Given the description of an element on the screen output the (x, y) to click on. 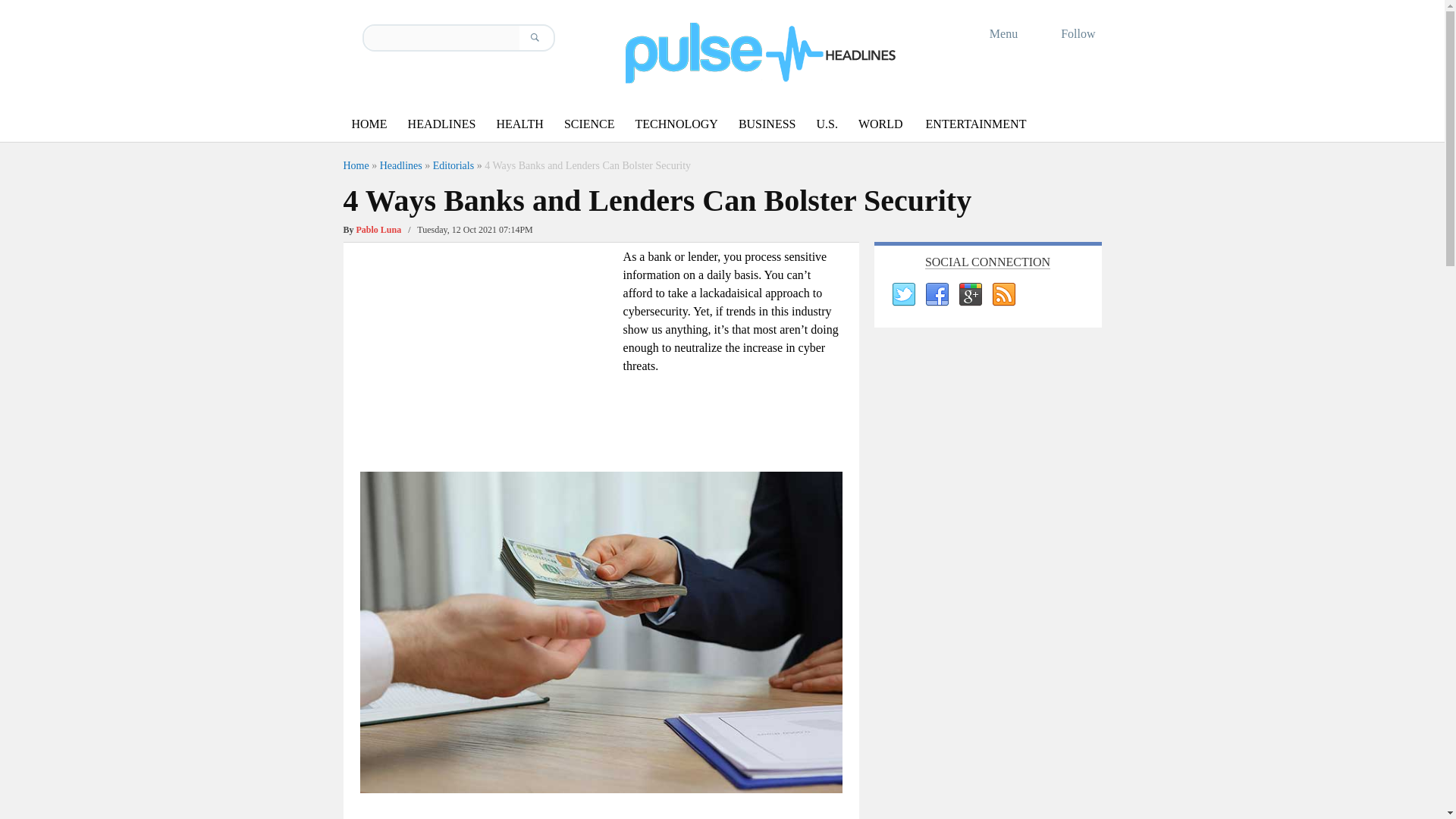
Home (355, 165)
HOME (368, 123)
Follow (1068, 33)
RSS (1002, 294)
WORLD (880, 123)
BUSINESS (767, 123)
Editorials (453, 165)
Menu (993, 33)
HEADLINES (441, 123)
HEALTH (519, 123)
